Given the description of an element on the screen output the (x, y) to click on. 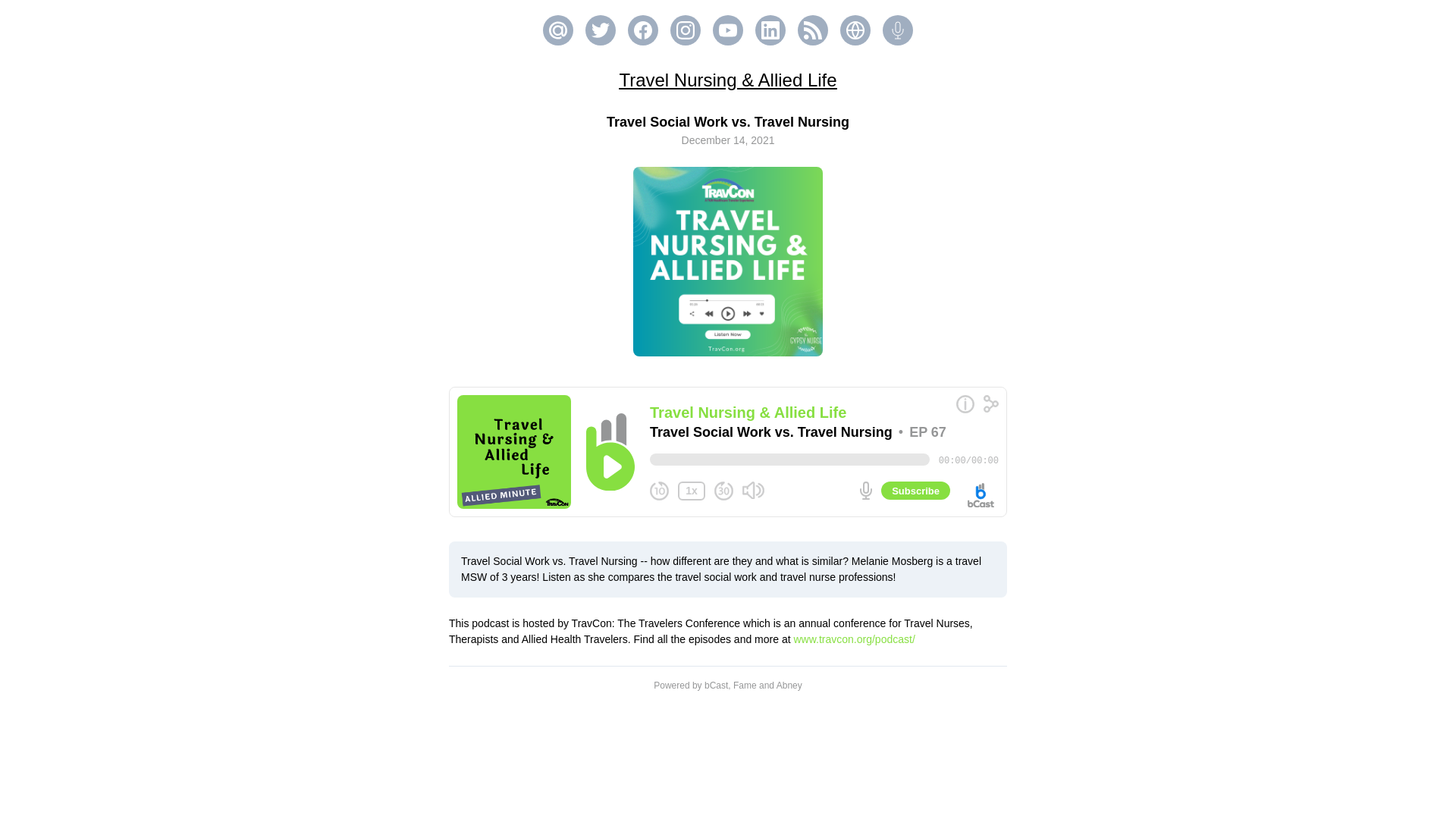
Fame (745, 685)
bCast (716, 685)
Abney (789, 685)
